Given the description of an element on the screen output the (x, y) to click on. 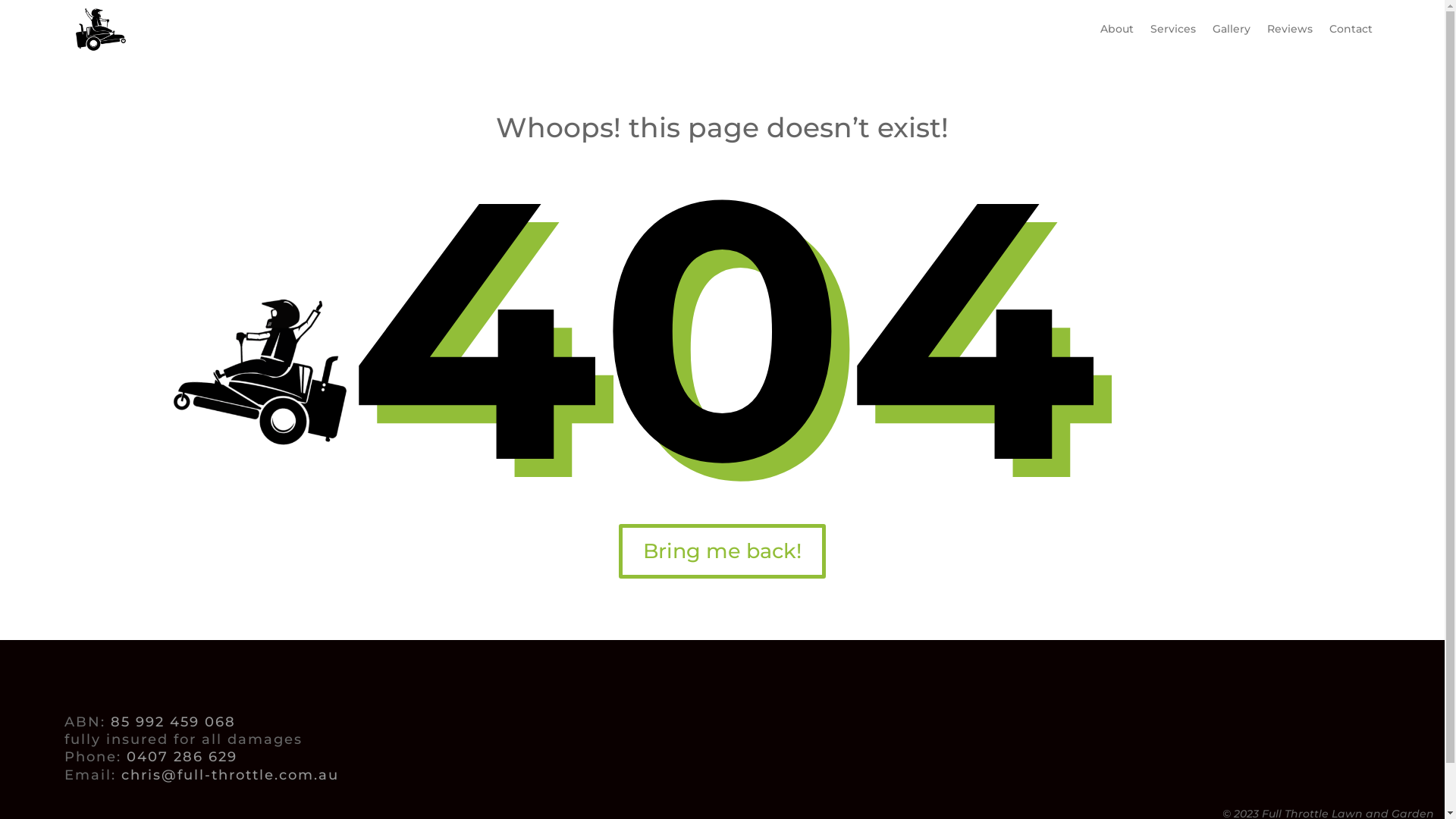
Services Element type: text (1172, 28)
Gallery Element type: text (1231, 28)
Bring me back! Element type: text (721, 551)
0407 286 629 Element type: text (181, 756)
Contact Element type: text (1350, 28)
chris@full-throttle.com.au Element type: text (229, 774)
About Element type: text (1116, 28)
logo-white-no-text-500x-1 Element type: hover (263, 368)
85 992 459 068 Element type: text (172, 721)
Reviews Element type: text (1289, 28)
